Given the description of an element on the screen output the (x, y) to click on. 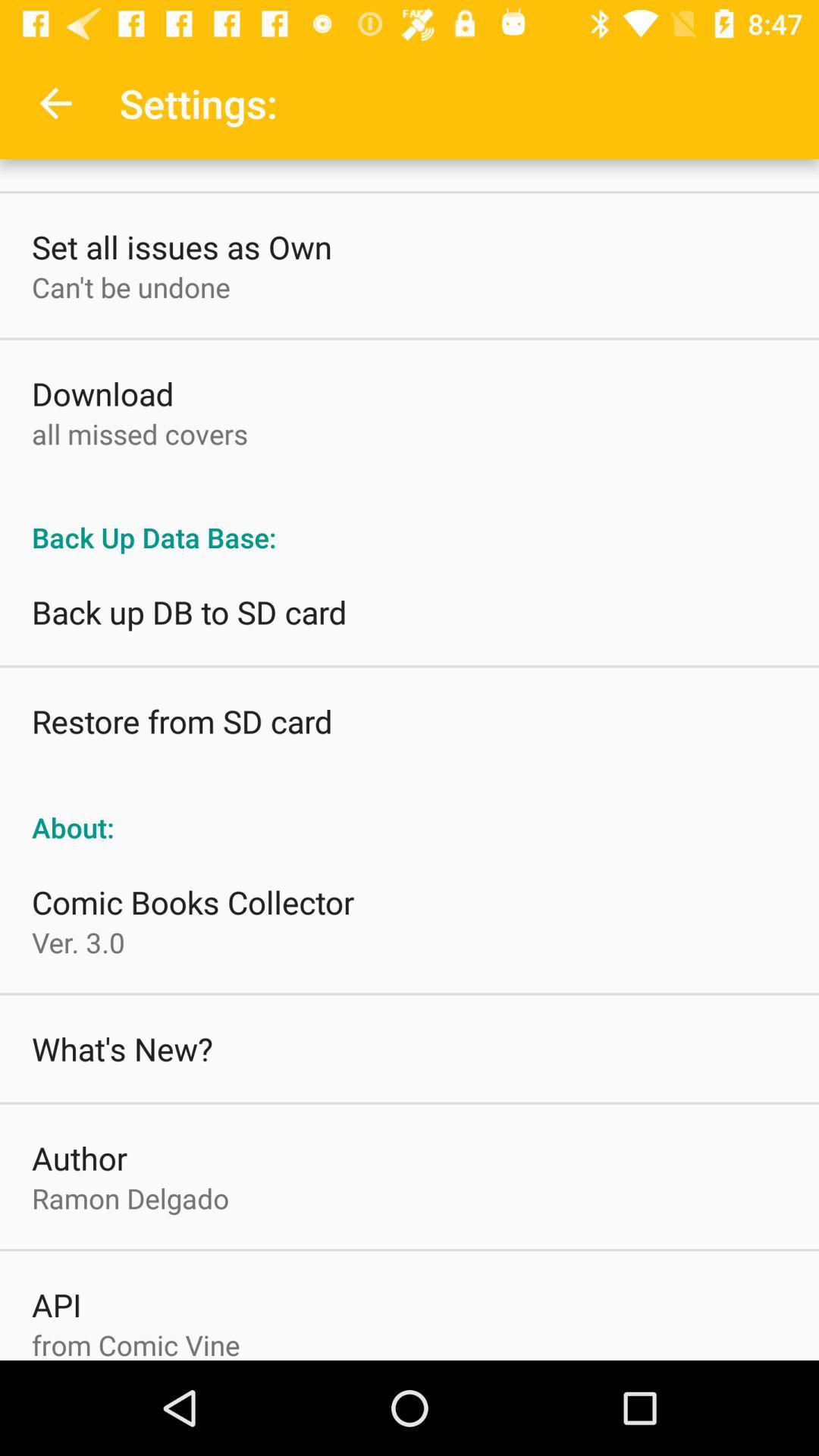
press item above author item (121, 1048)
